Given the description of an element on the screen output the (x, y) to click on. 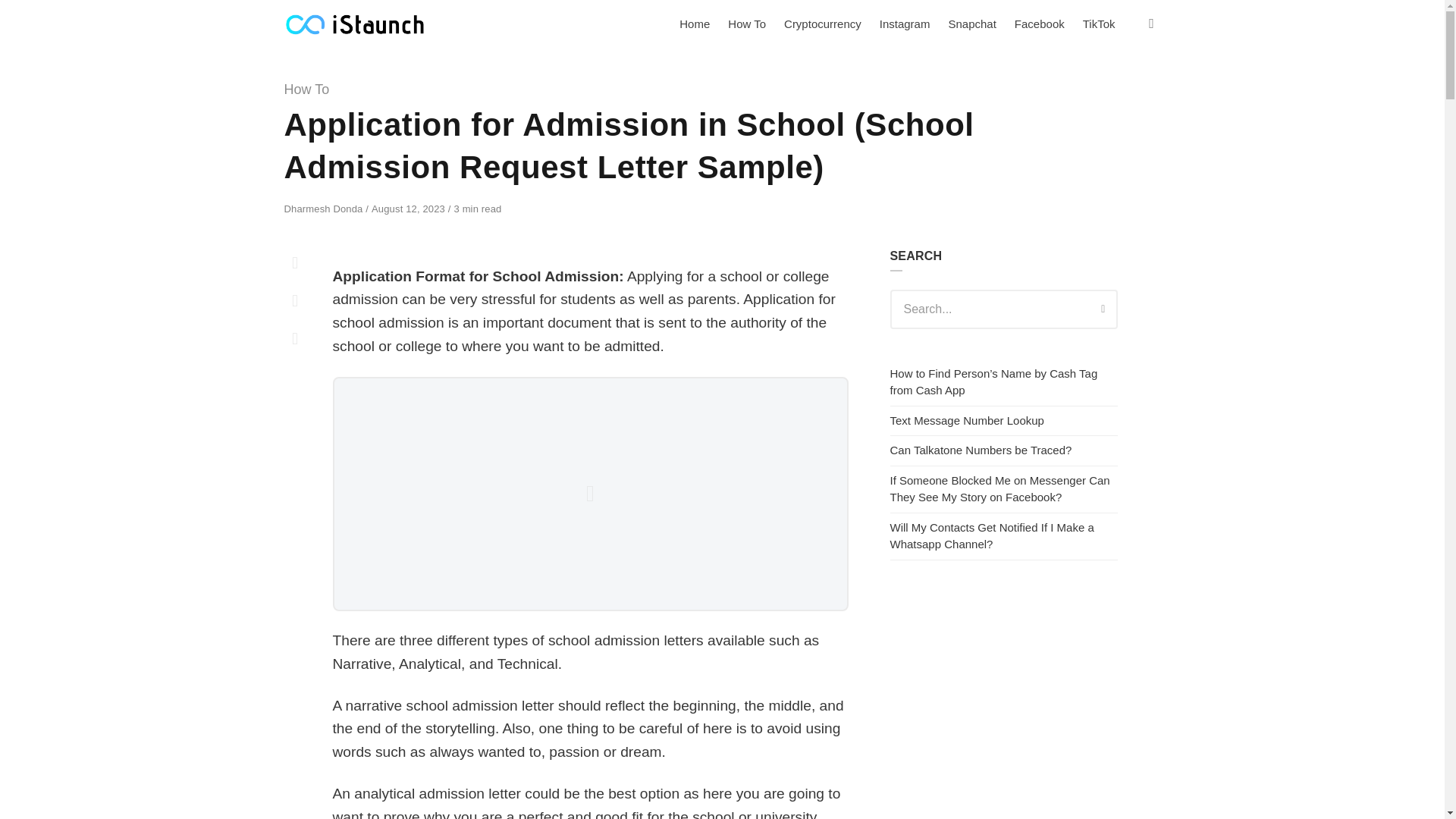
Cryptocurrency (822, 24)
Snapchat (971, 24)
Will My Contacts Get Notified If I Make a Whatsapp Channel? (991, 535)
Facebook (1040, 24)
TikTok (1099, 24)
How To (306, 89)
Can Talkatone Numbers be Traced? (980, 449)
Instagram (904, 24)
Dharmesh Donda (324, 208)
Home (694, 24)
How To (746, 24)
August 12, 2023 (409, 208)
Text Message Number Lookup (966, 420)
August 12, 2023 (409, 208)
